Given the description of an element on the screen output the (x, y) to click on. 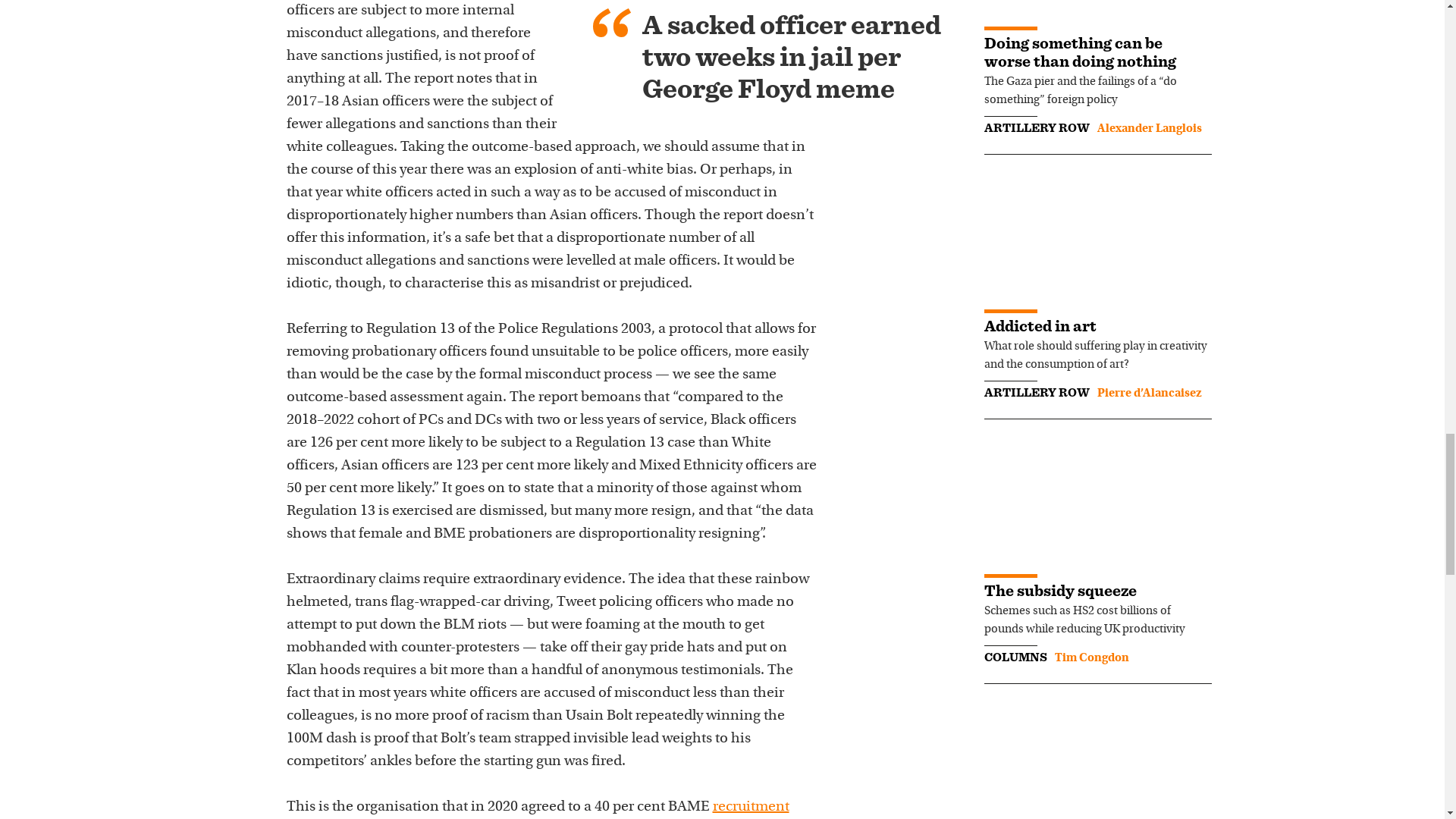
Posts by Tim Congdon (1091, 657)
recruitment target (537, 809)
Posts by Alexander Langlois (1148, 128)
